Given the description of an element on the screen output the (x, y) to click on. 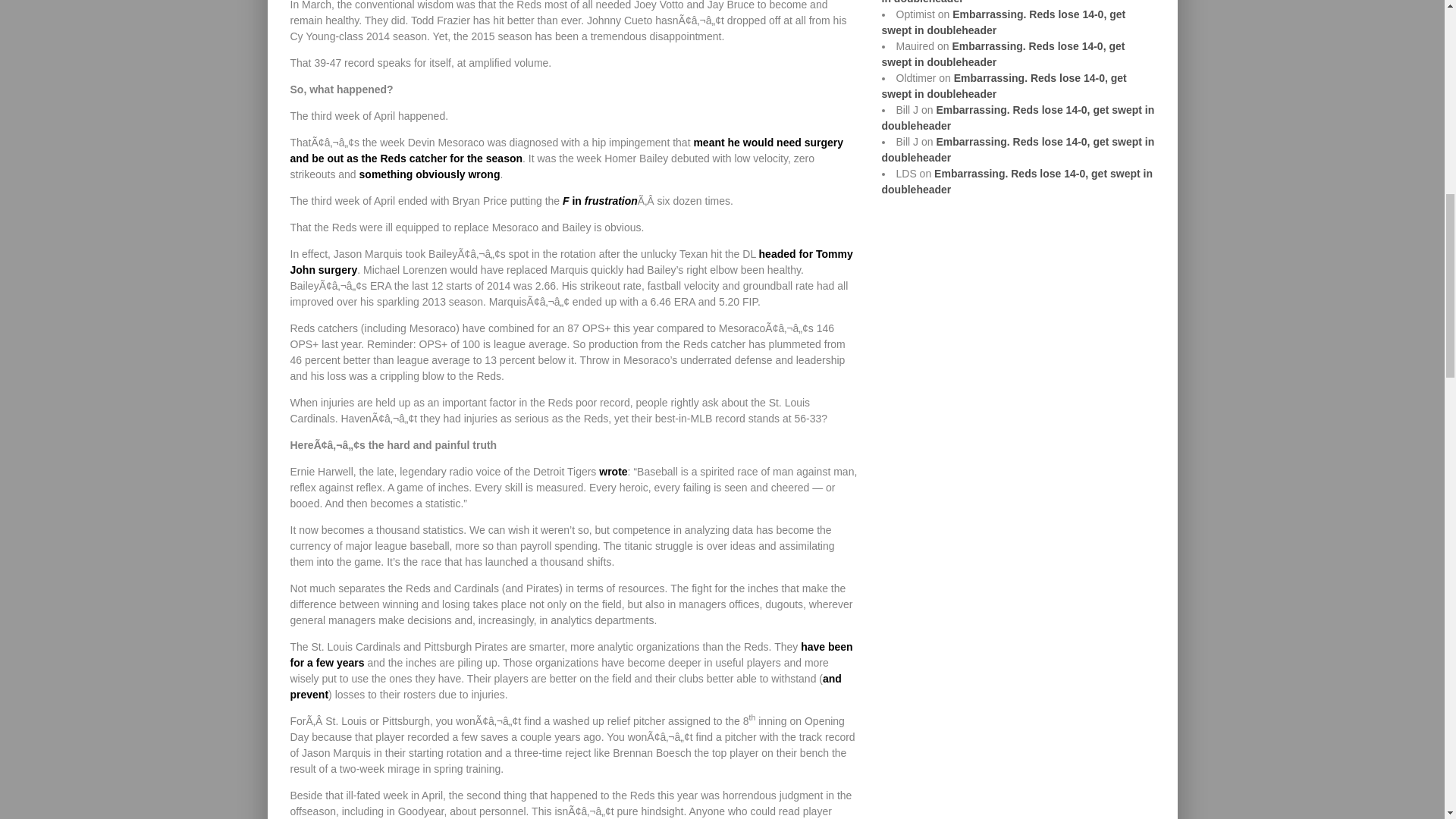
have been for a few years (570, 653)
and prevent (565, 685)
something obviously wrong (429, 174)
F in frustration (599, 200)
wrote (612, 471)
headed for Tommy John surgery (570, 261)
